Given the description of an element on the screen output the (x, y) to click on. 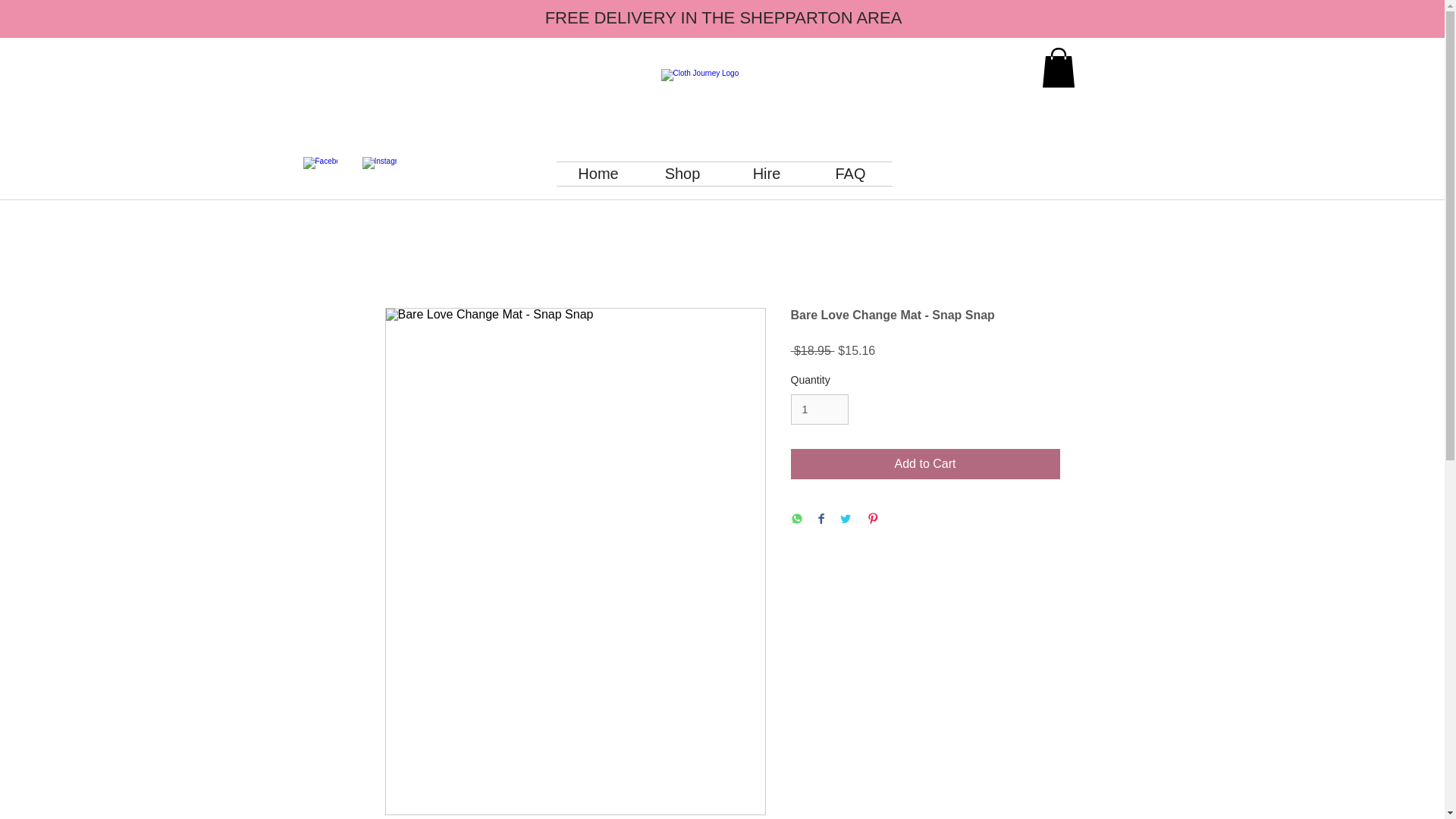
FAQ (849, 173)
Hire (767, 173)
Shop (681, 173)
Home (598, 173)
Add to Cart (924, 463)
1 (818, 409)
